Given the description of an element on the screen output the (x, y) to click on. 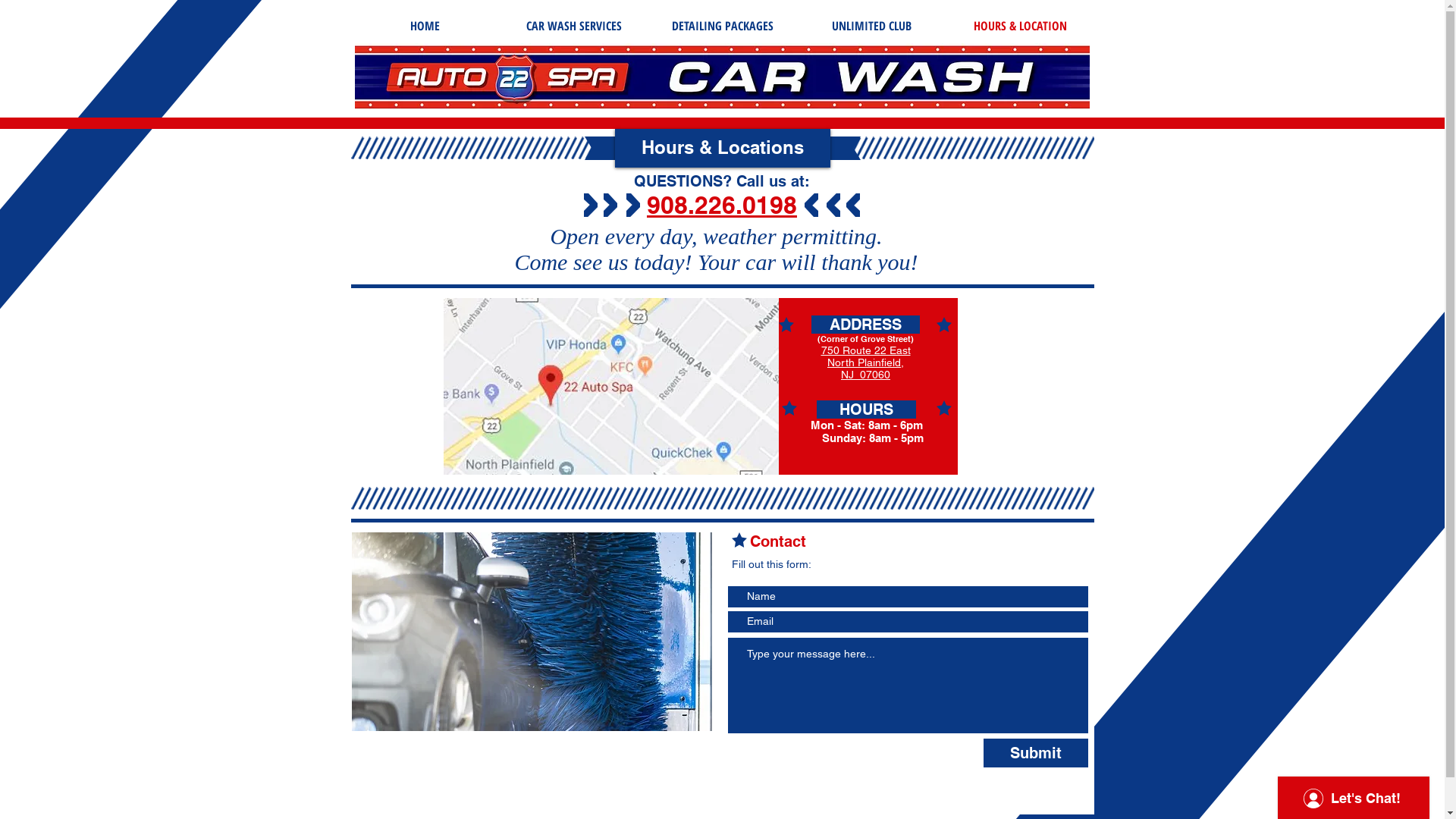
North Plainfield, Element type: text (865, 362)
Submit Element type: text (1034, 752)
CAR WASH SERVICES Element type: text (572, 25)
HOME Element type: text (424, 25)
DETAILING PACKAGES Element type: text (721, 25)
HOURS & LOCATION Element type: text (1018, 25)
750 Route 22 East Element type: text (865, 350)
UNLIMITED CLUB Element type: text (870, 25)
NJ  07060 Element type: text (865, 374)
908.226.0198 Element type: text (721, 204)
